Given the description of an element on the screen output the (x, y) to click on. 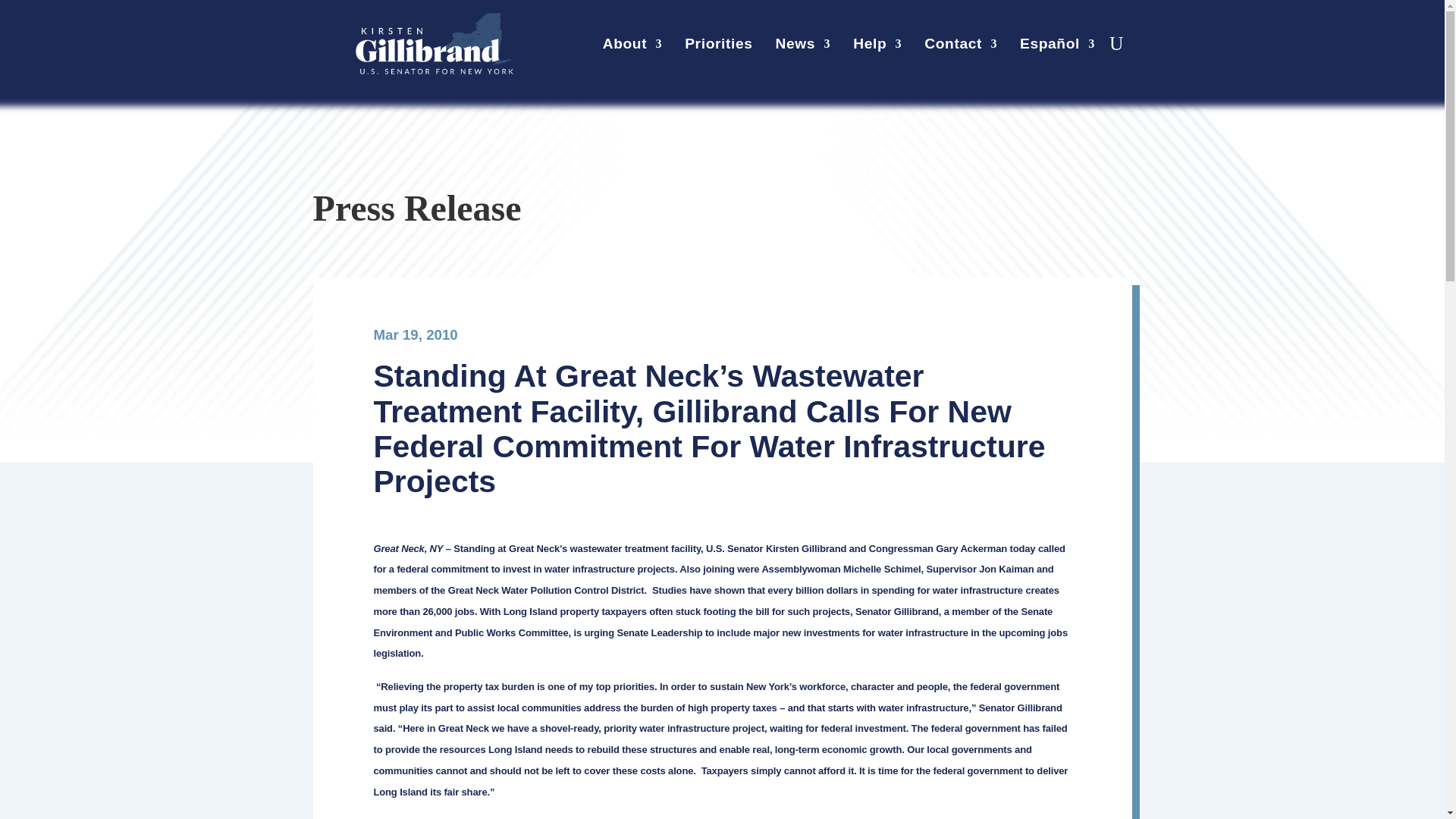
News (803, 46)
About (632, 46)
Priorities (718, 46)
Contact (960, 46)
gillibrand-logo (434, 43)
Help (877, 46)
